Given the description of an element on the screen output the (x, y) to click on. 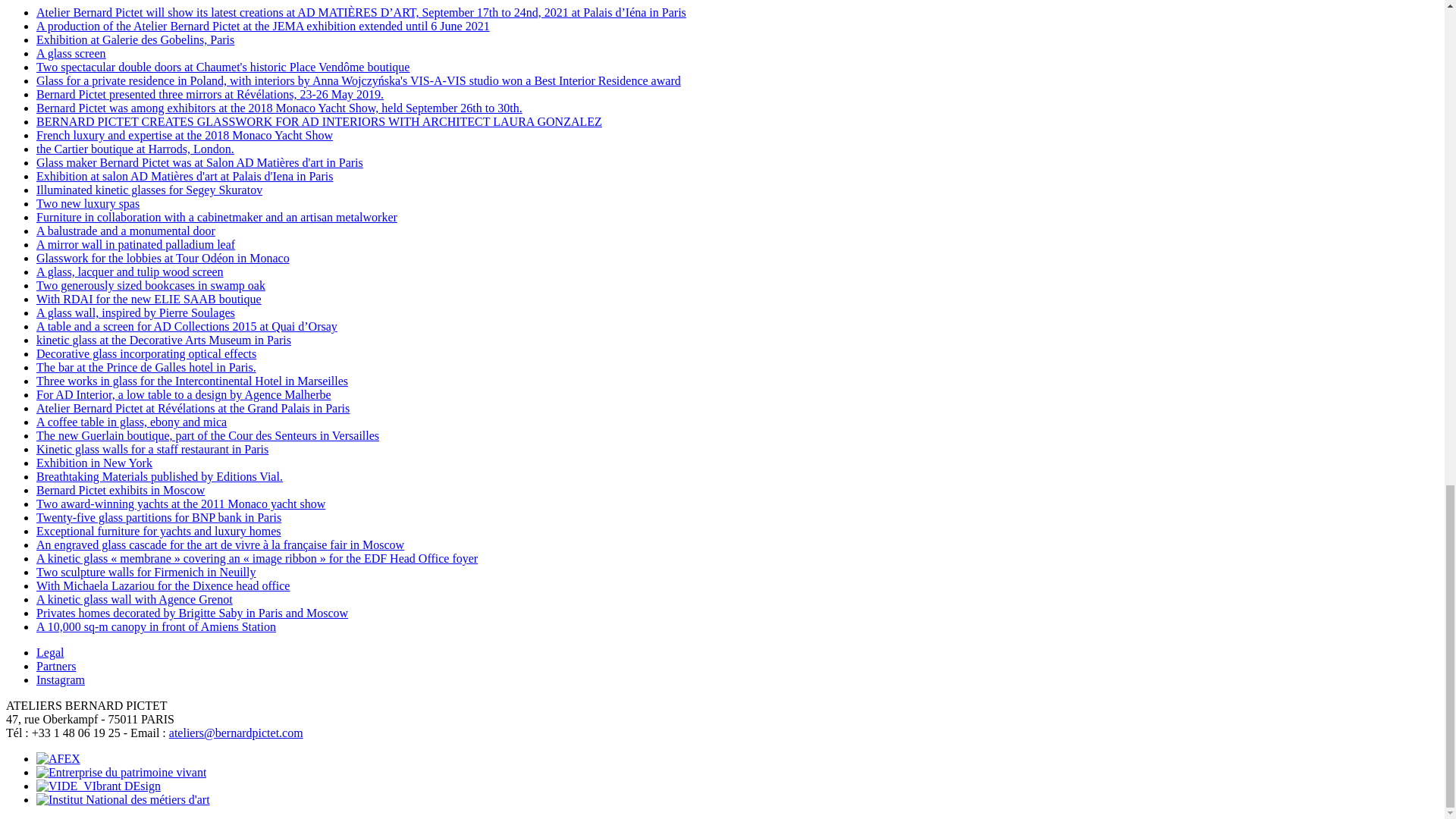
AFEX (58, 758)
Entrerprise du patrimoine vivant (121, 771)
